Given the description of an element on the screen output the (x, y) to click on. 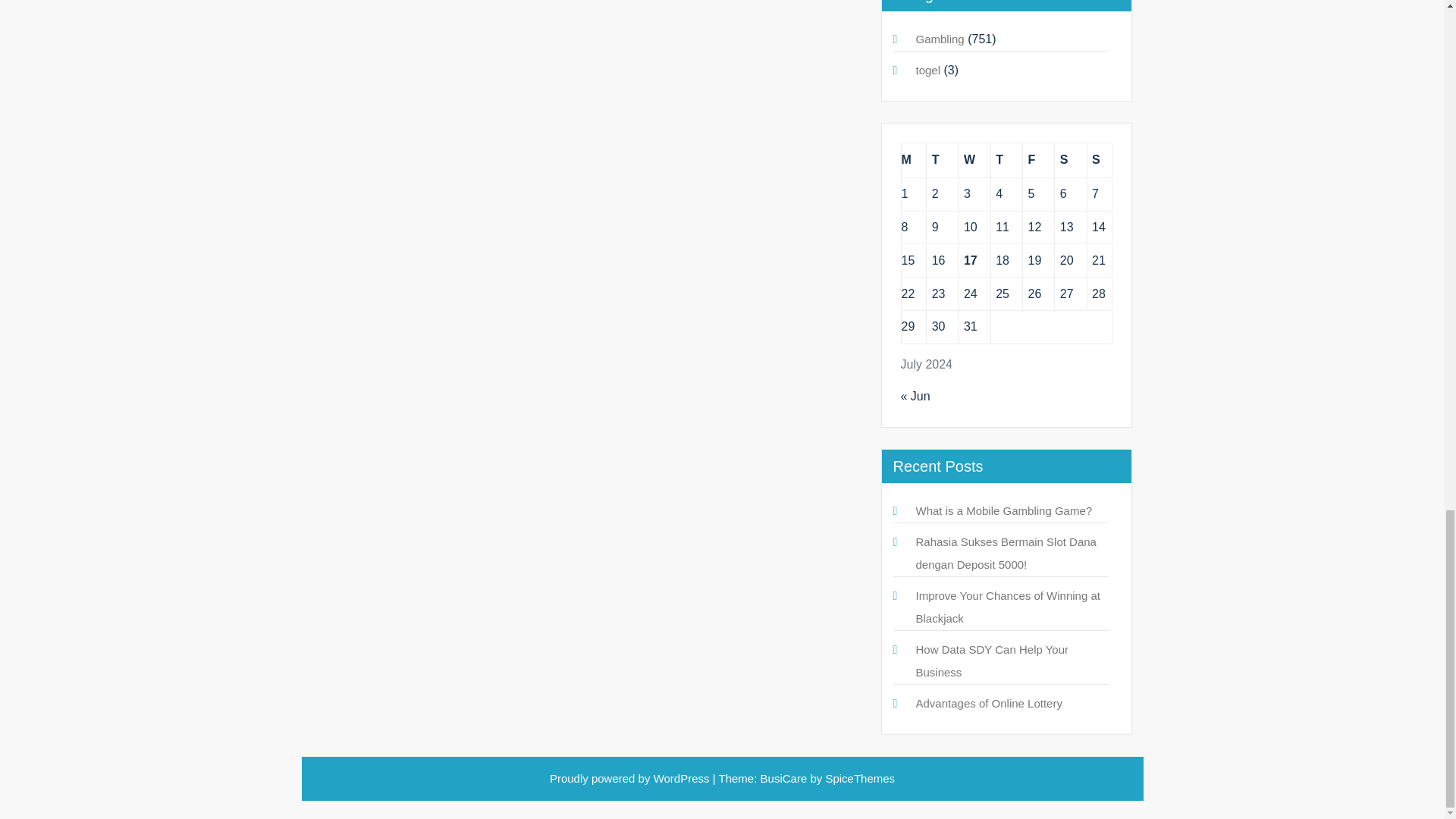
Wednesday (974, 160)
togel (927, 69)
Tuesday (942, 160)
Saturday (1070, 160)
Friday (1038, 160)
Thursday (1006, 160)
Gambling (939, 38)
